Given the description of an element on the screen output the (x, y) to click on. 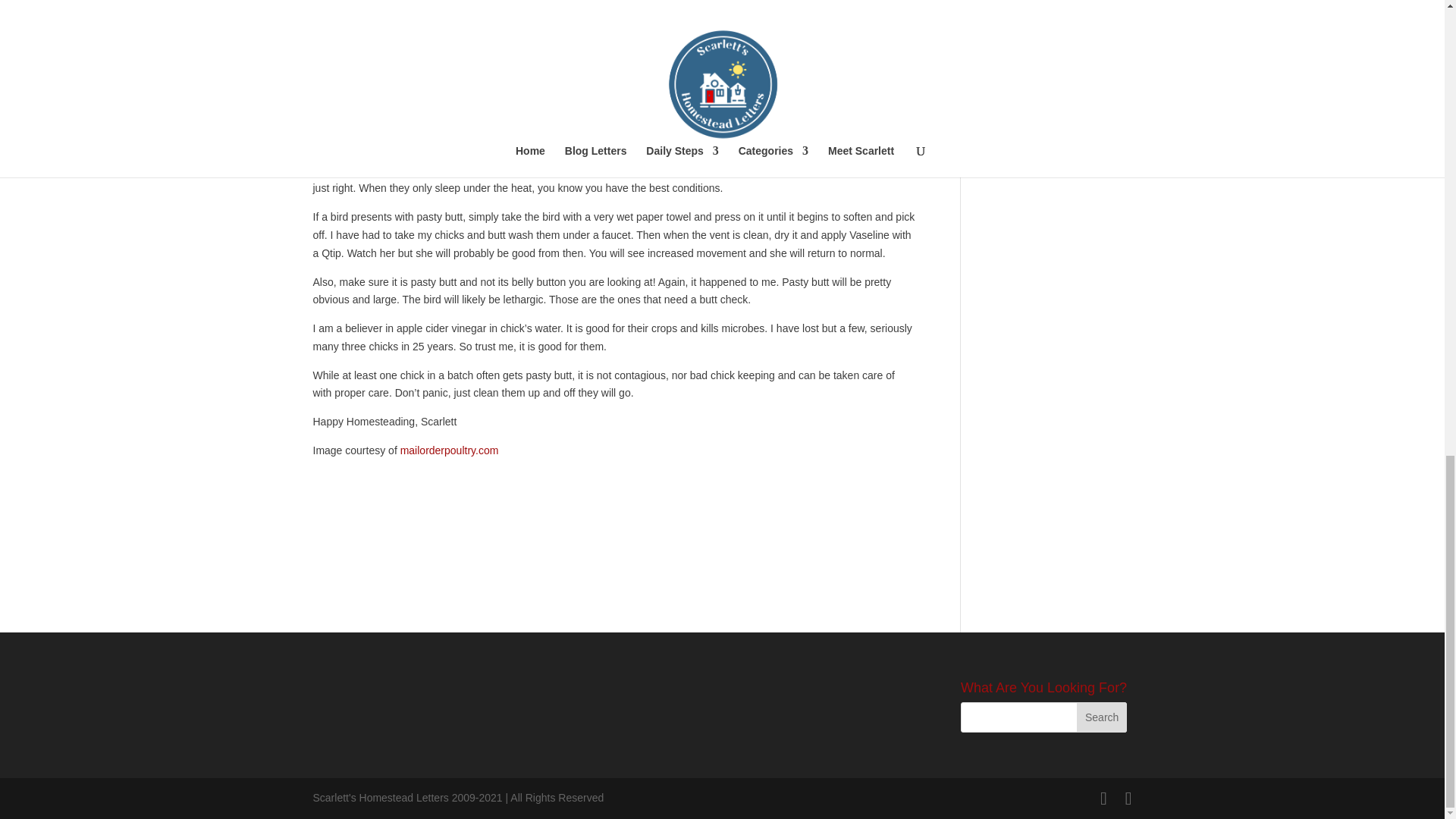
Search (1101, 716)
